Given the description of an element on the screen output the (x, y) to click on. 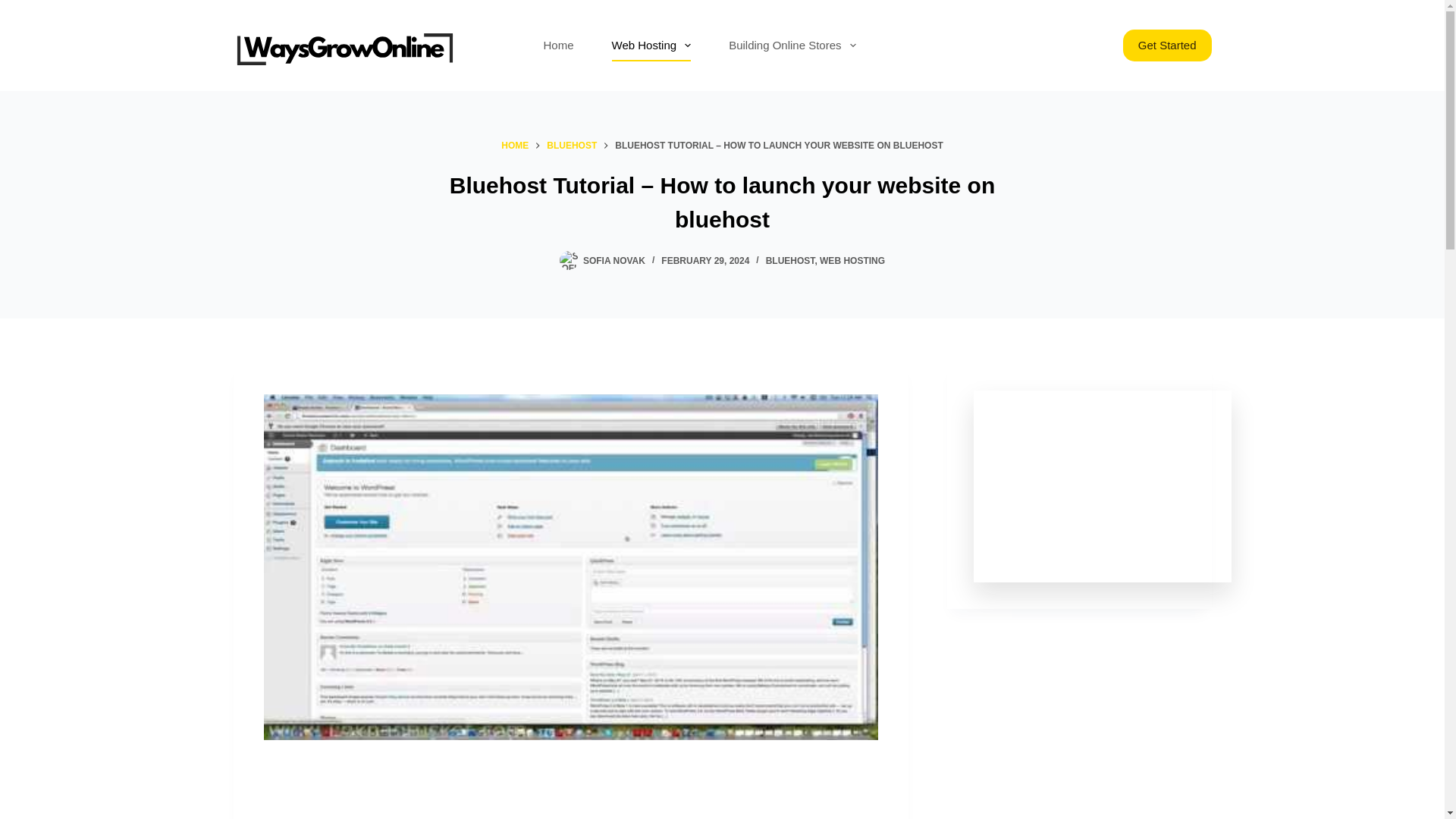
Posts by Sofia Novak (614, 260)
HOME (514, 145)
Get Started (1166, 45)
Web Hosting (651, 45)
Building Online Stores (792, 45)
WEB HOSTING (852, 260)
BLUEHOST (571, 145)
Skip to content (15, 7)
Home (558, 45)
SOFIA NOVAK (614, 260)
